Given the description of an element on the screen output the (x, y) to click on. 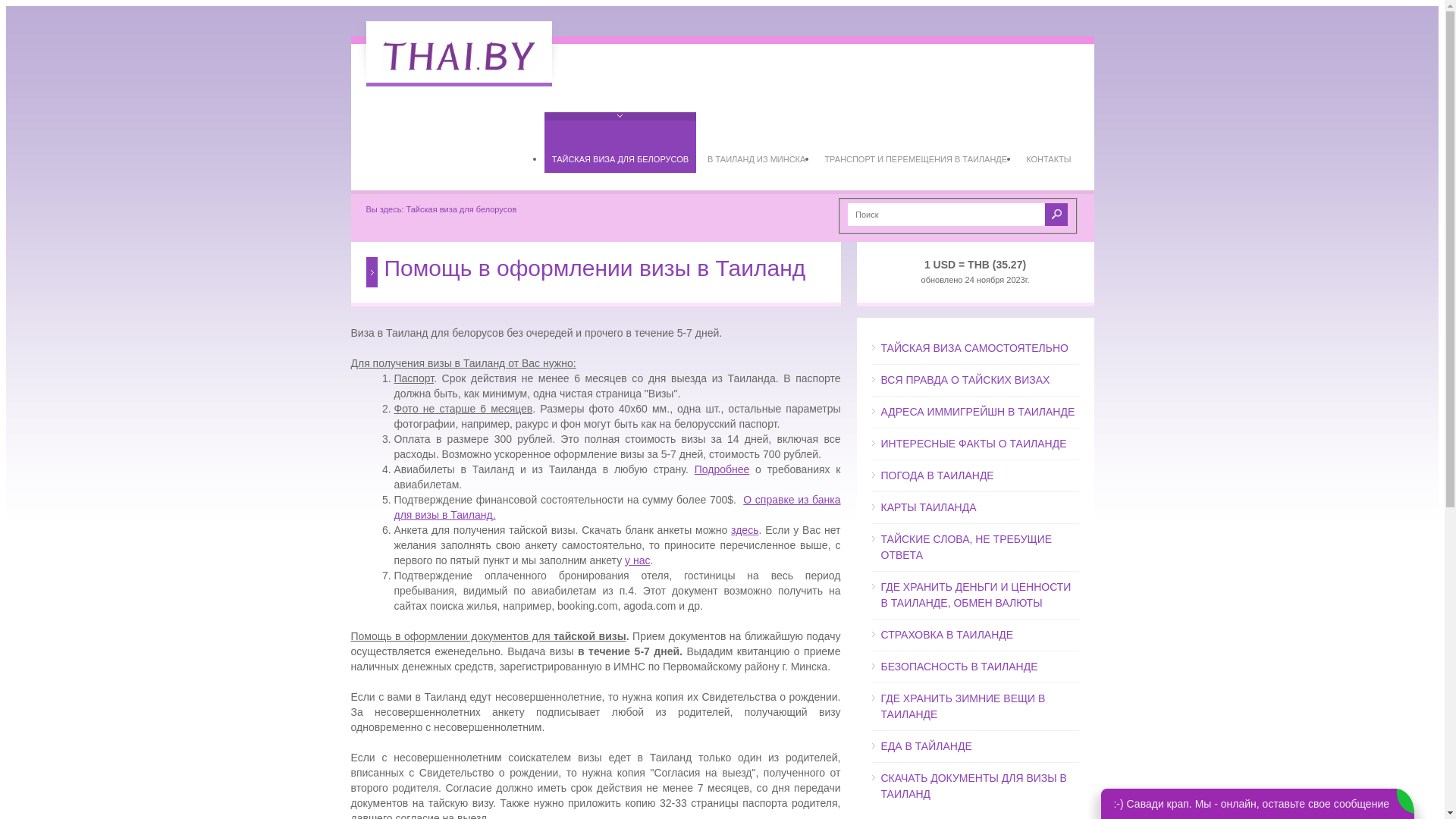
. Element type: text (493, 514)
